Given the description of an element on the screen output the (x, y) to click on. 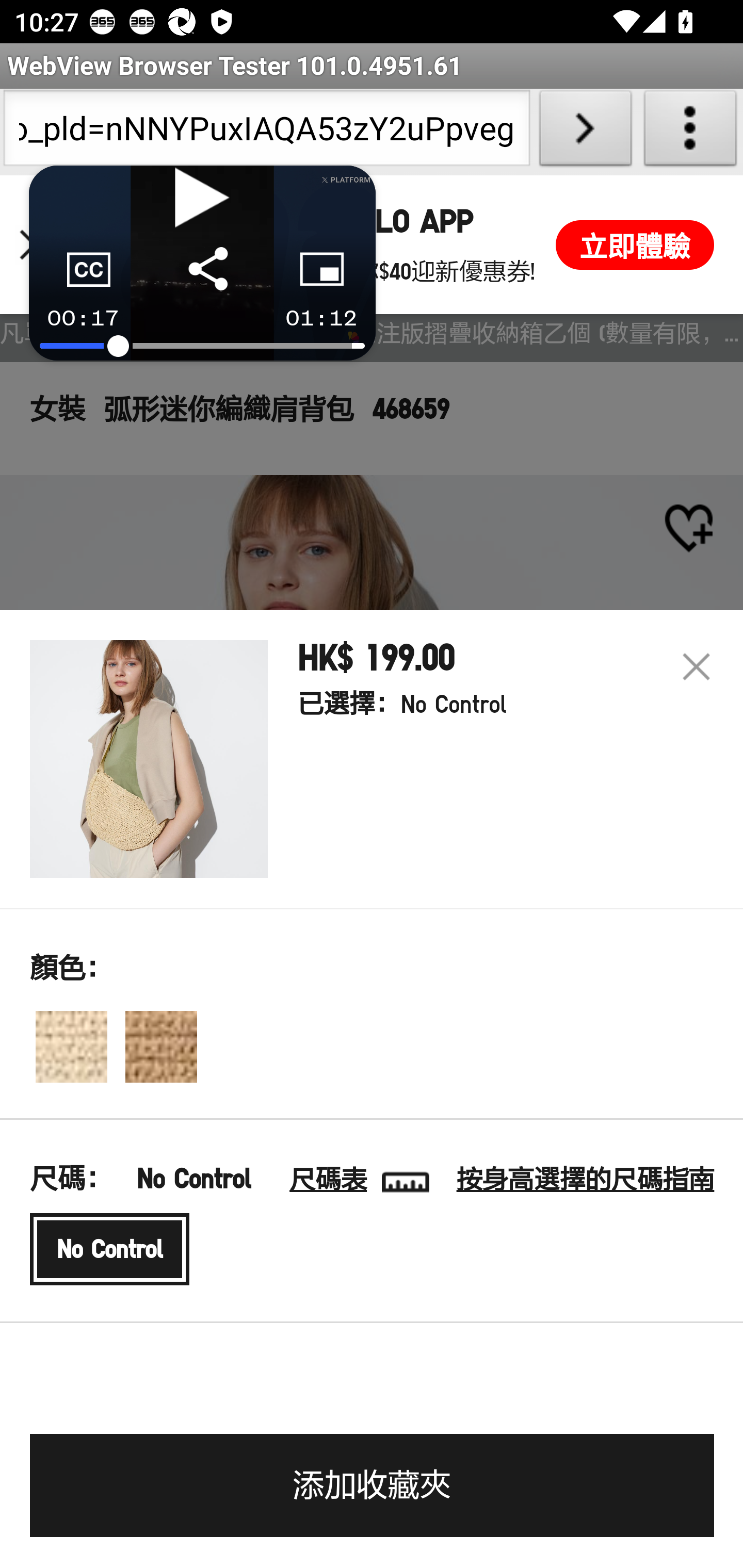
Load URL (585, 132)
About WebView (690, 132)
立即體驗 (634, 244)
弧形迷你編織肩背包 (148, 759)
30 淺膚色 (71, 1046)
32 淺啡色 (161, 1046)
尺碼表 (335, 1179)
按身高選擇的尺碼指南 (584, 1179)
No Control (110, 1248)
添加收藏夾 (371, 1485)
